Given the description of an element on the screen output the (x, y) to click on. 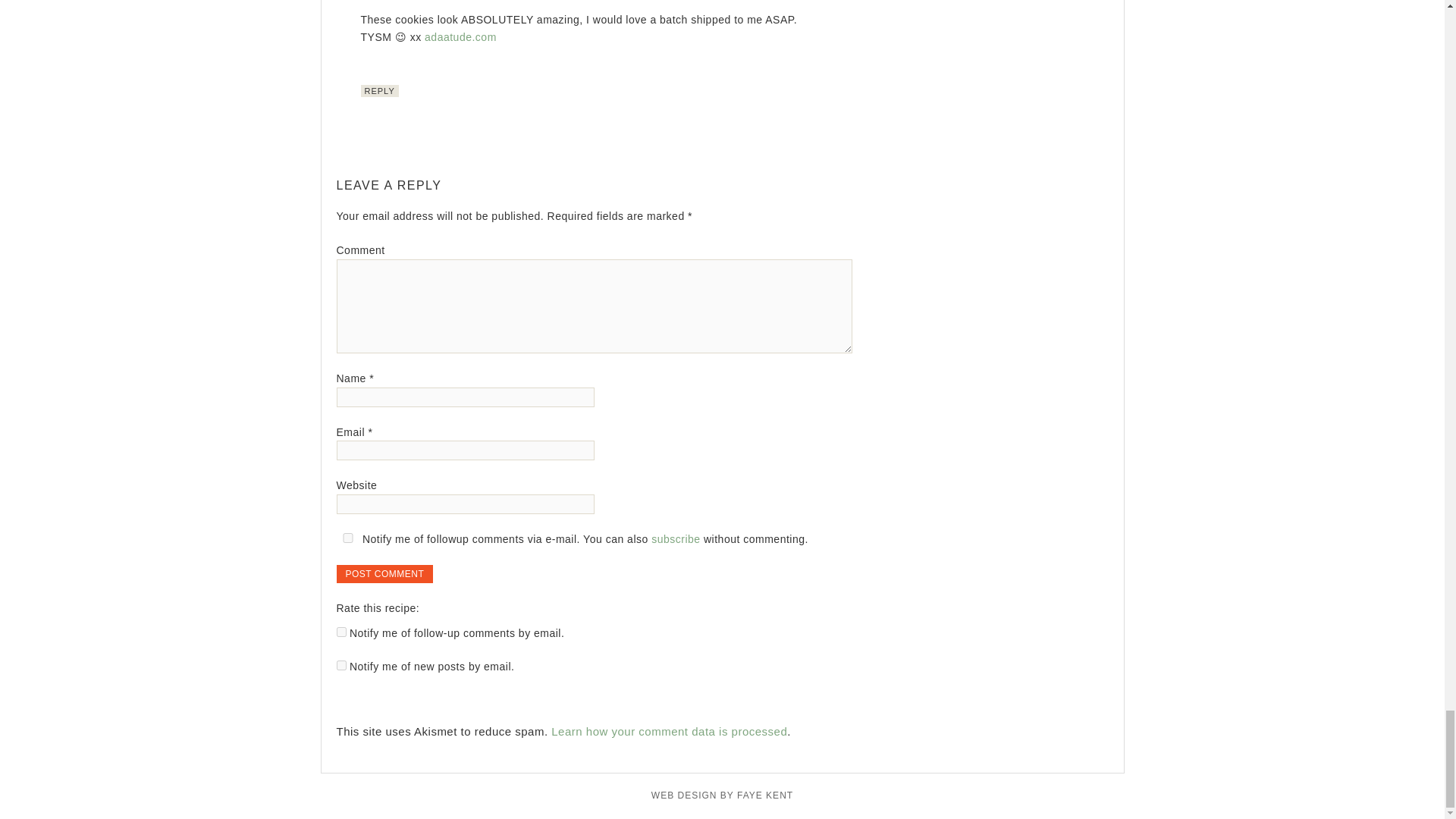
subscribe (341, 632)
subscribe (341, 665)
Post Comment (384, 574)
yes (347, 537)
